Given the description of an element on the screen output the (x, y) to click on. 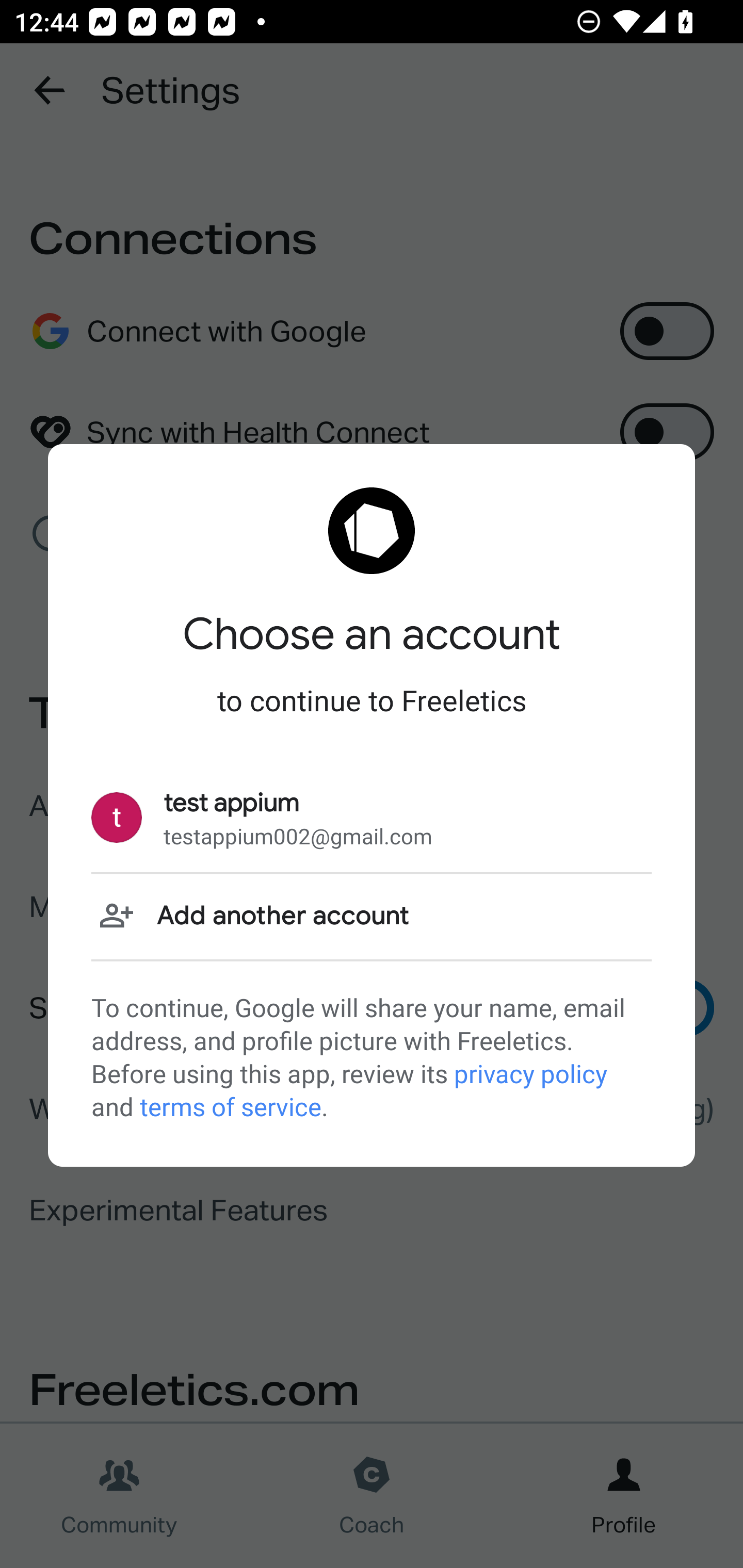
test appium testappium002@gmail.com (371, 817)
Add another account (371, 915)
